Given the description of an element on the screen output the (x, y) to click on. 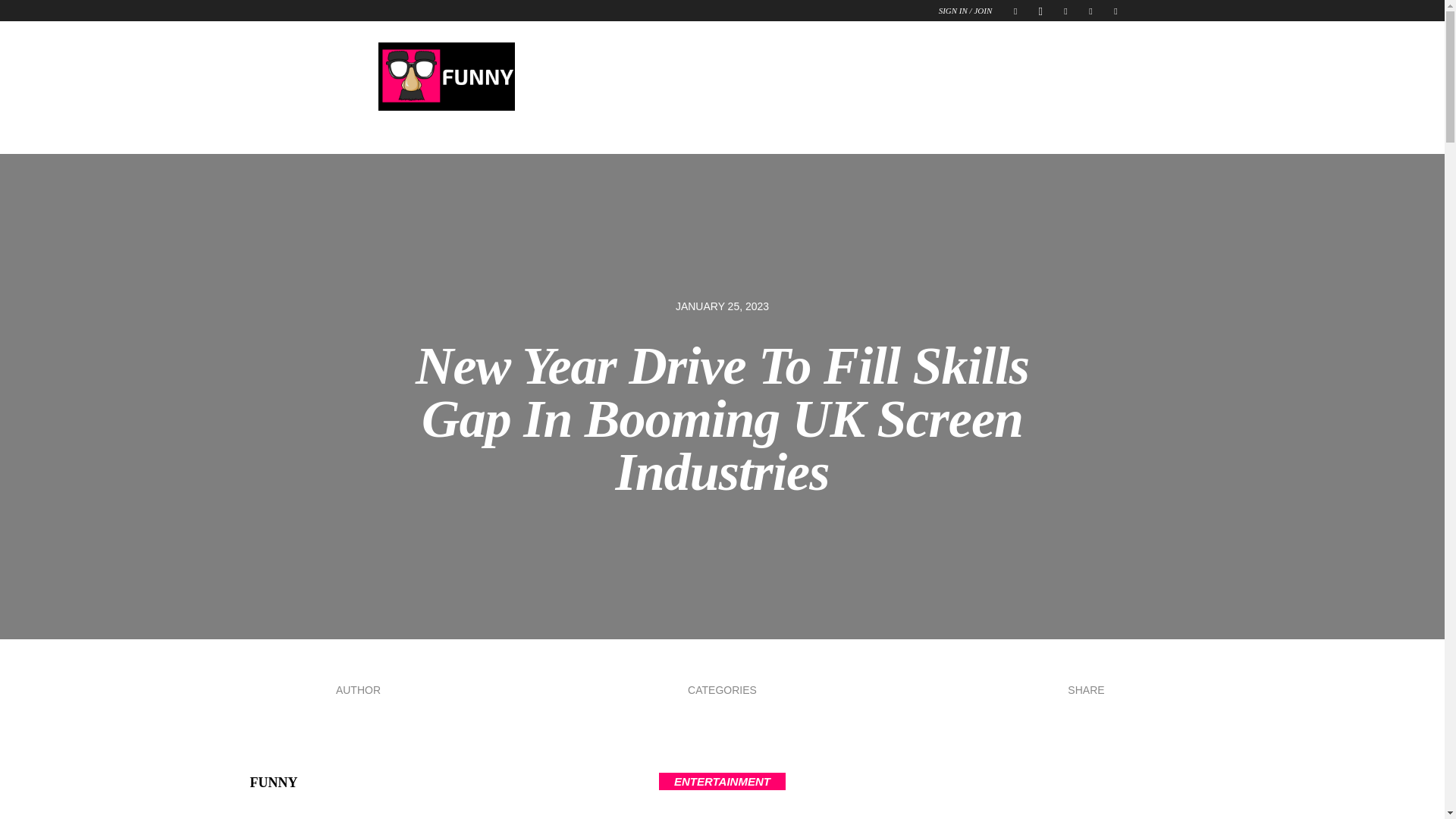
Twitter (1114, 10)
FUNNY (445, 76)
Instagram (1040, 10)
Pinterest (1065, 10)
Facebook (1015, 10)
Tumblr (1090, 10)
